Given the description of an element on the screen output the (x, y) to click on. 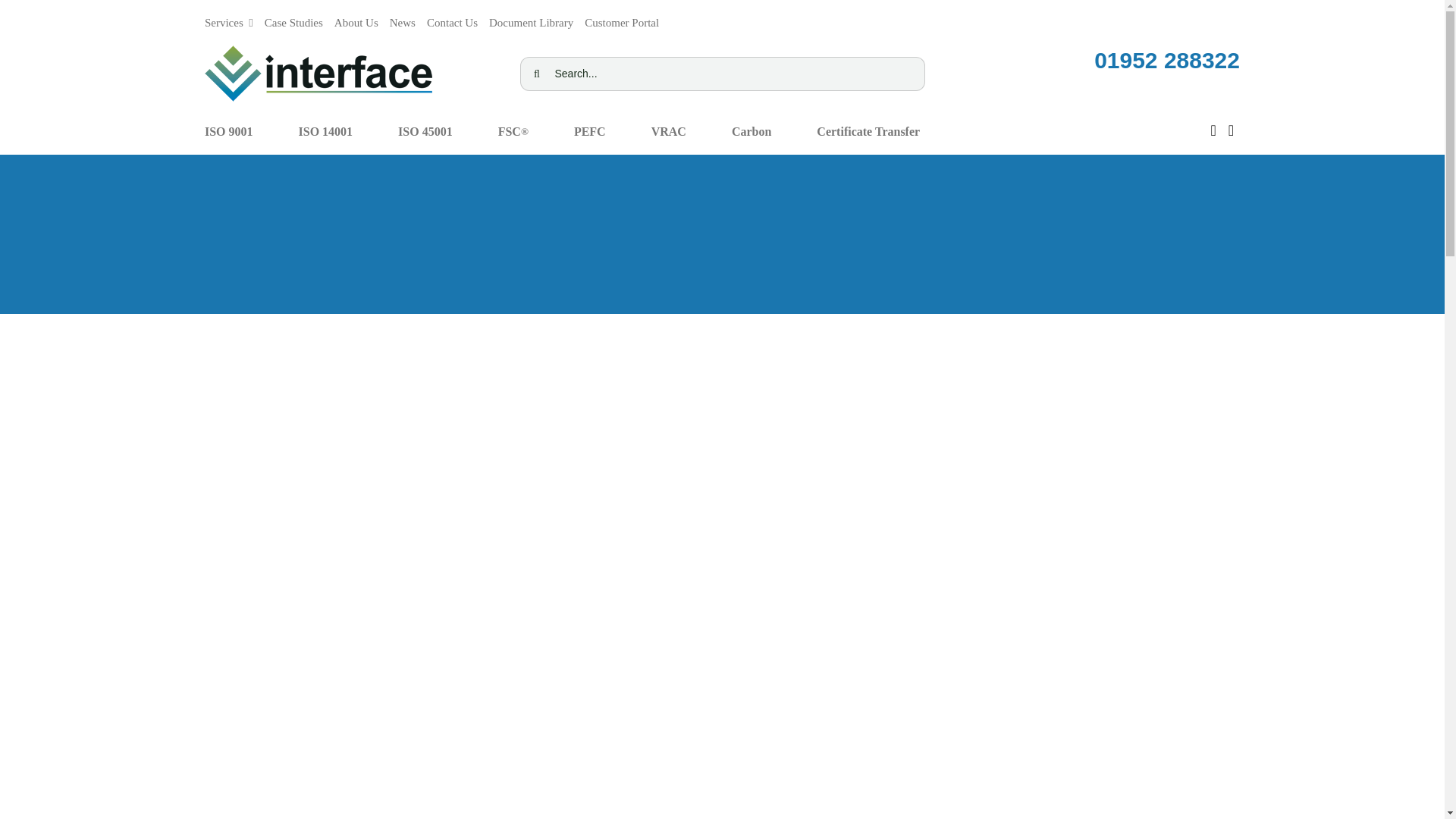
Document Library (531, 18)
About Us (356, 18)
Customer Portal (622, 18)
Services (229, 18)
Contact Us (451, 18)
Case Studies (293, 18)
